Given the description of an element on the screen output the (x, y) to click on. 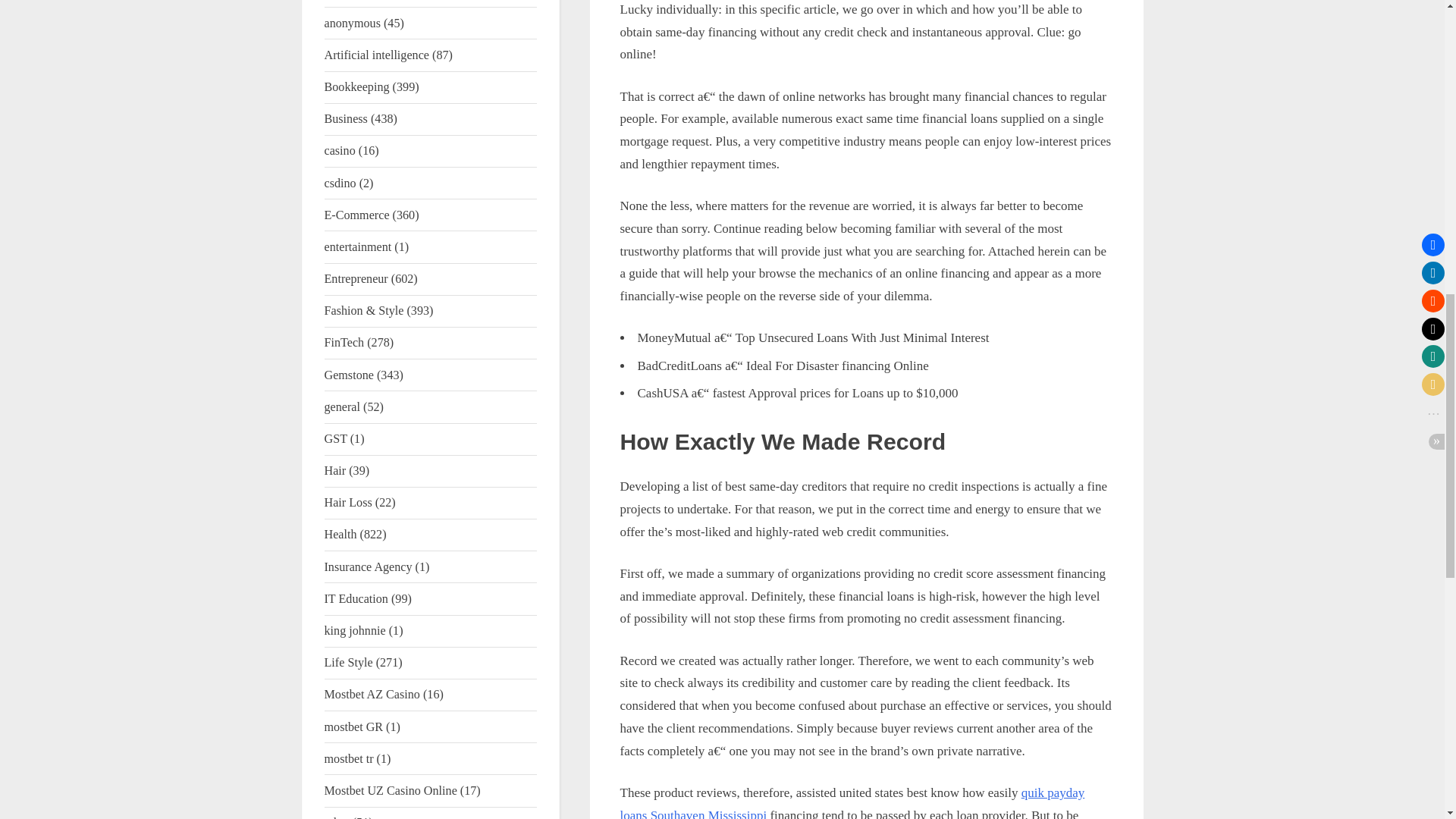
quik payday loans Southaven Mississippi (852, 802)
